Given the description of an element on the screen output the (x, y) to click on. 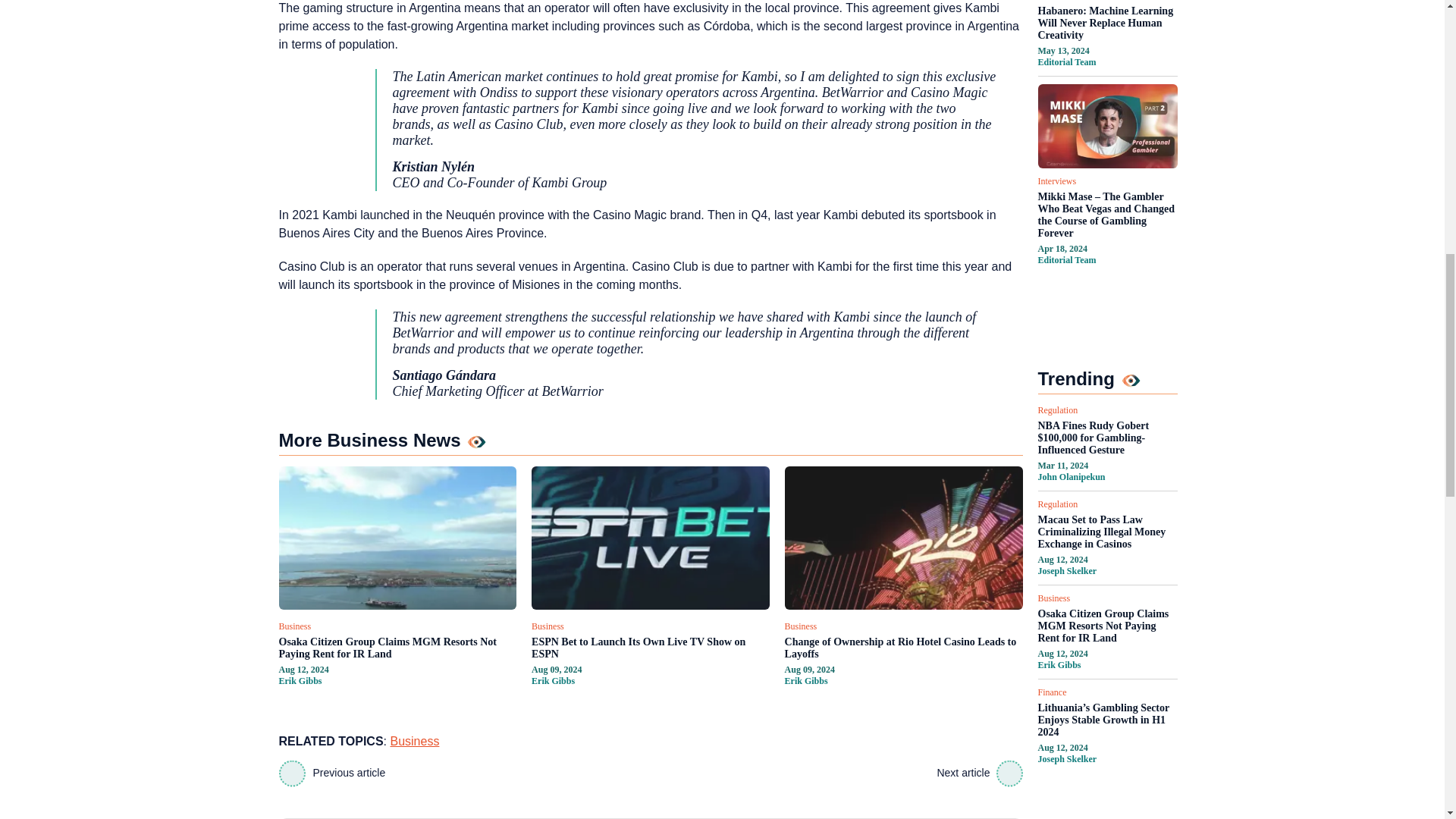
Erik Gibbs (553, 680)
Erik Gibbs (300, 680)
ESPN Bet to Launch Its Own Live TV Show on ESPN (650, 648)
